Given the description of an element on the screen output the (x, y) to click on. 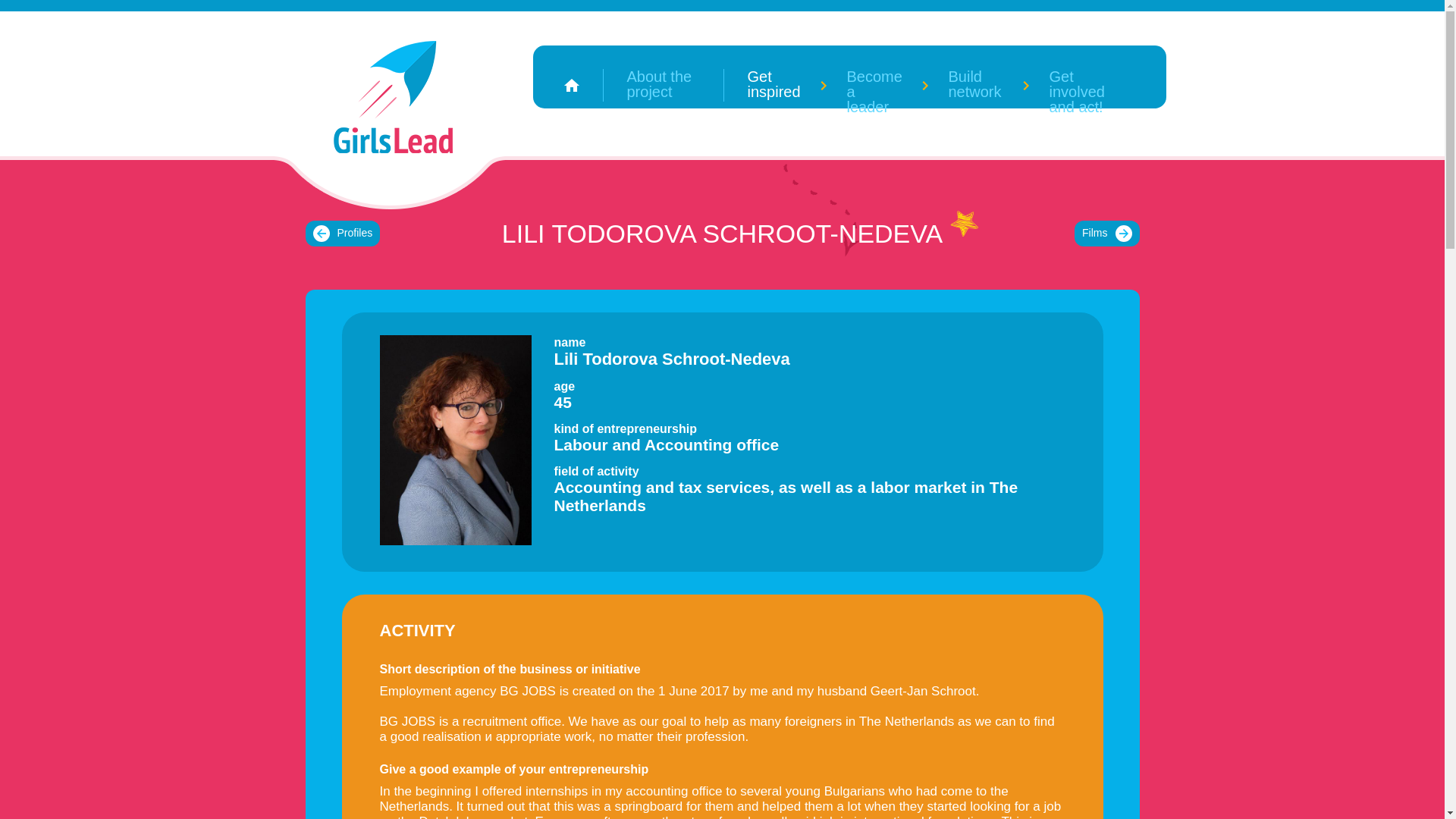
About the project (663, 84)
GirlsLead (392, 96)
Profiles (342, 233)
Become a leader (874, 84)
Get involved and act! (1089, 84)
Home (571, 84)
GirlsLead (392, 96)
Get inspired (772, 84)
Build network (975, 84)
